Given the description of an element on the screen output the (x, y) to click on. 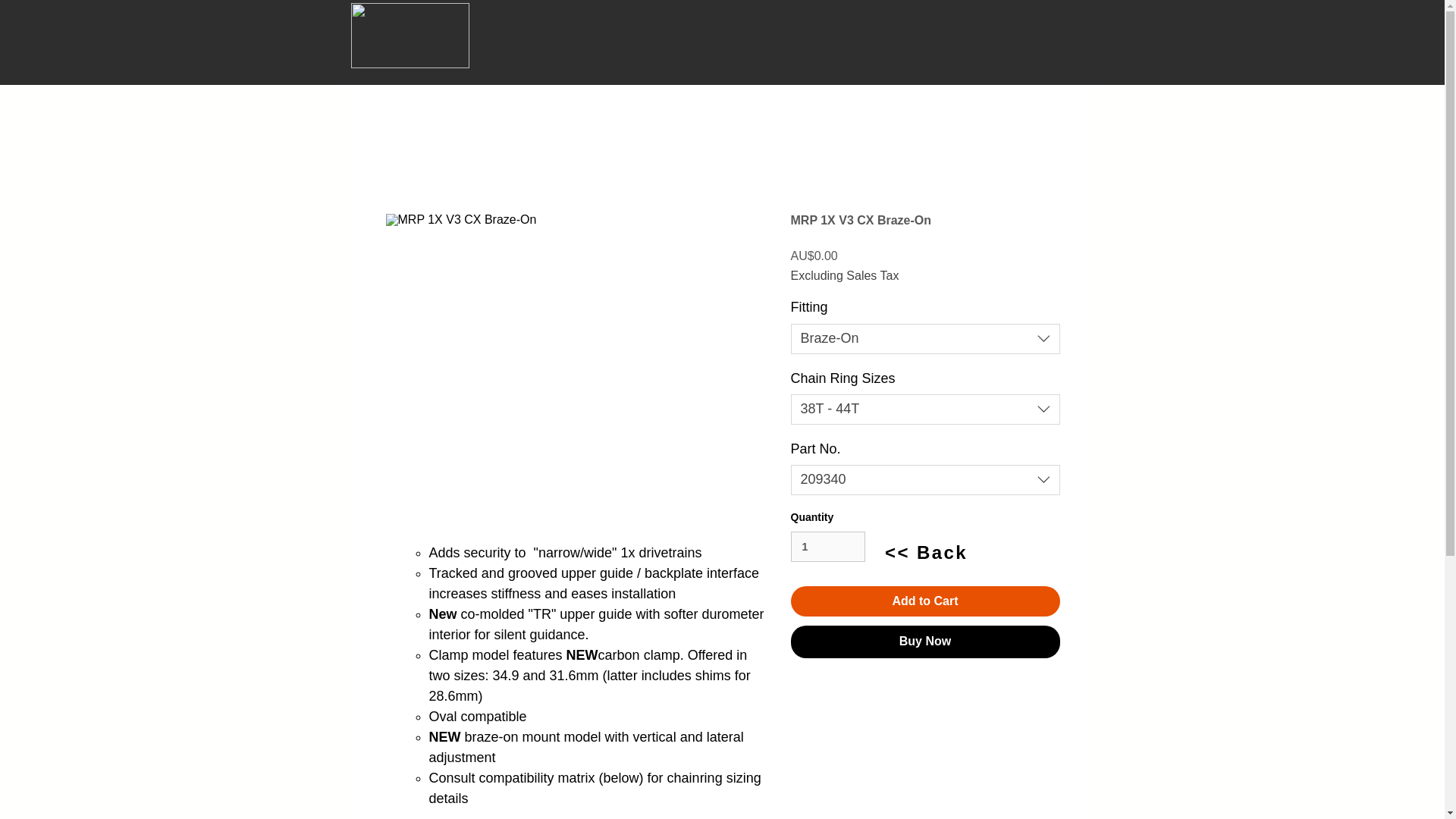
1 (827, 546)
209340 (924, 480)
Buy Now (924, 641)
38T - 44T (924, 409)
Add to Cart (924, 601)
Steve Cramer Products (409, 35)
Braze-On (924, 338)
